Given the description of an element on the screen output the (x, y) to click on. 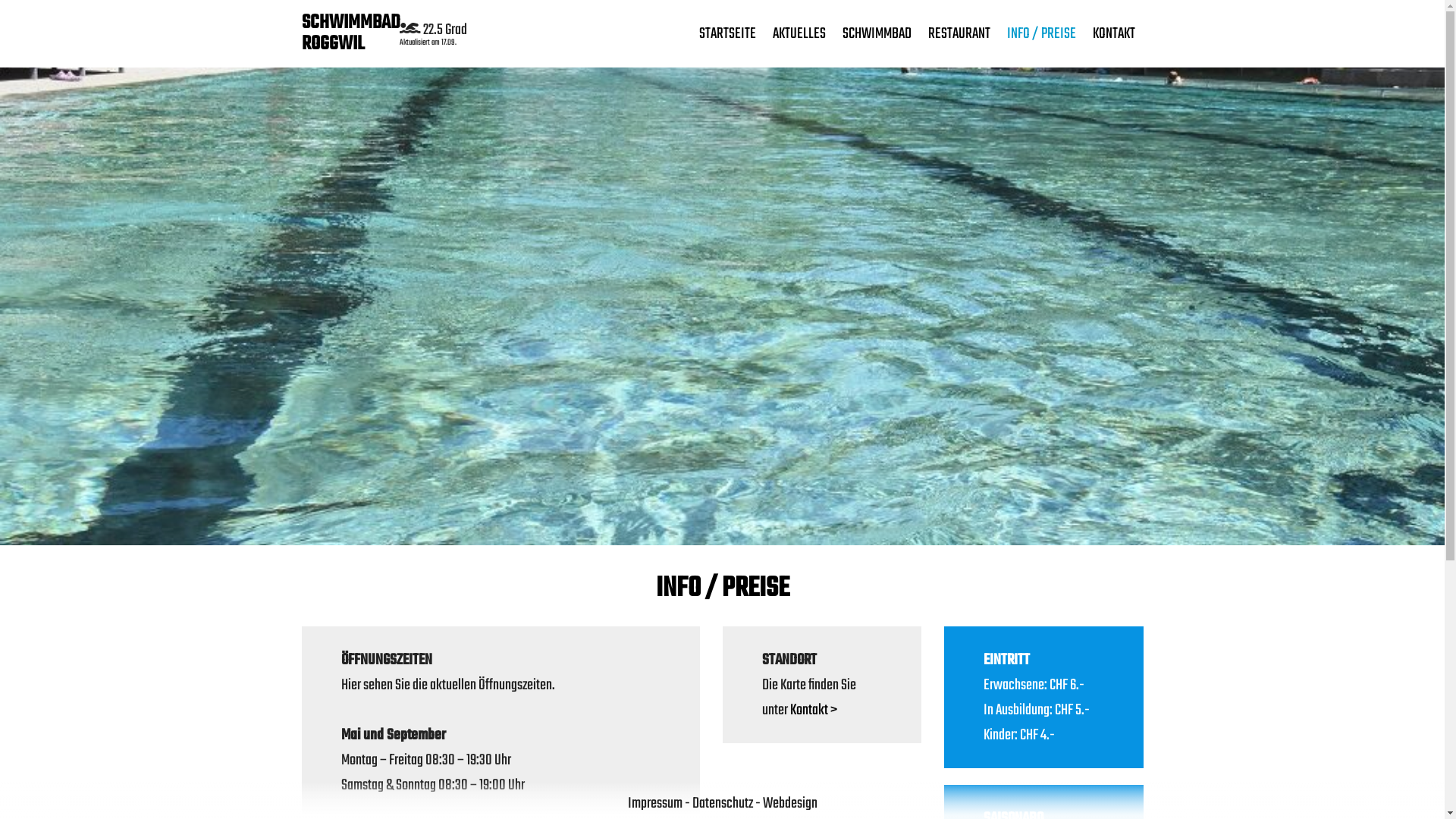
SCHWIMMBAD Element type: text (876, 33)
INFO / PREISE Element type: text (1040, 33)
Impressum Element type: text (654, 803)
KONTAKT Element type: text (1113, 33)
Kontakt > Element type: text (813, 709)
RESTAURANT Element type: text (958, 33)
AKTUELLES Element type: text (799, 33)
Badi Roggwil, Wasser im Schwimmerbecken Element type: hover (722, 304)
Webdesign Element type: text (789, 803)
Datenschutz Element type: text (721, 803)
Schwimmbecken Schwimmbad Roggwil Element type: hover (722, 305)
STARTSEITE Element type: text (726, 33)
SCHWIMMBAD
ROGGWIL Element type: text (350, 33)
